Given the description of an element on the screen output the (x, y) to click on. 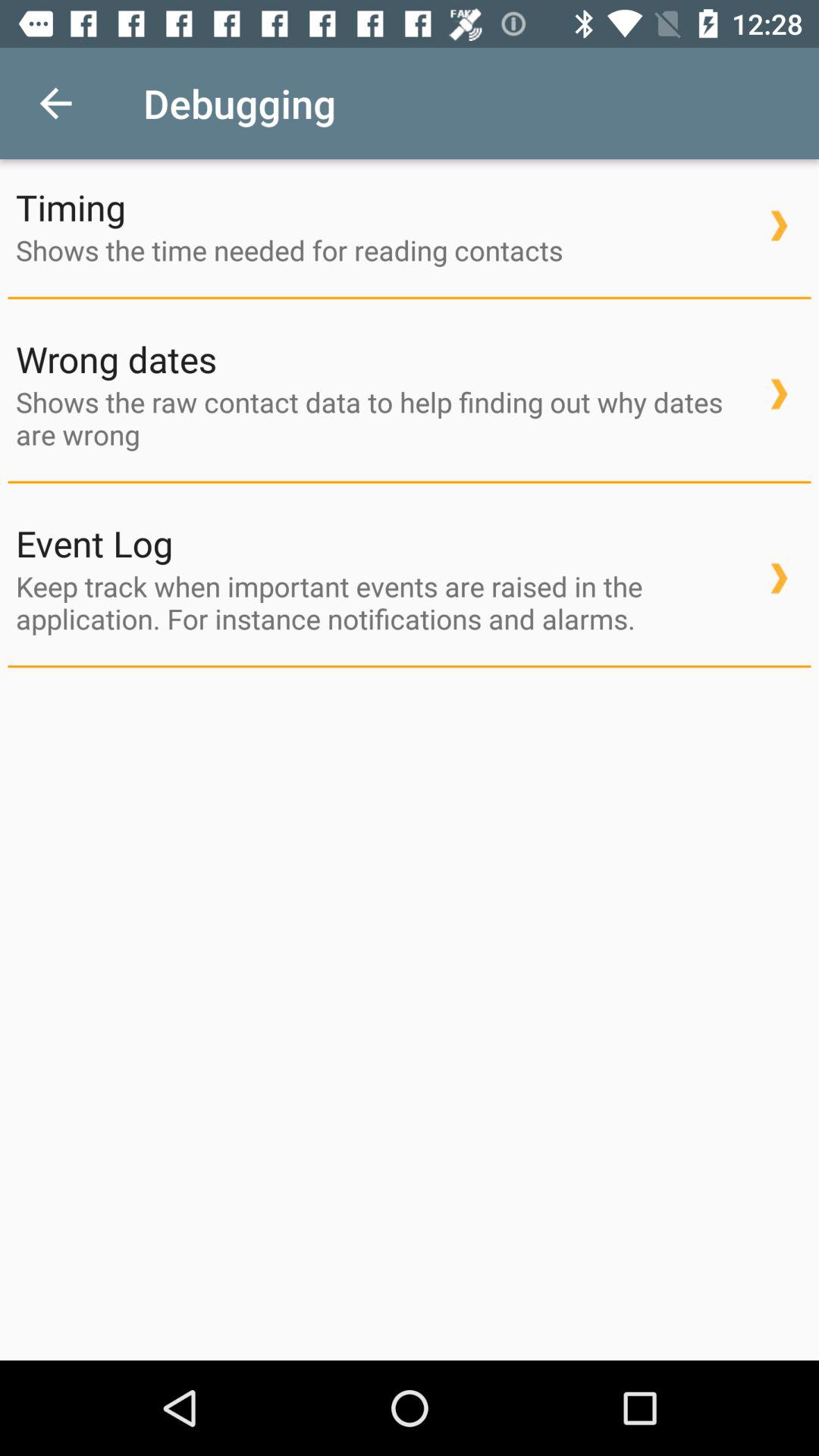
press the item above timing item (55, 103)
